Given the description of an element on the screen output the (x, y) to click on. 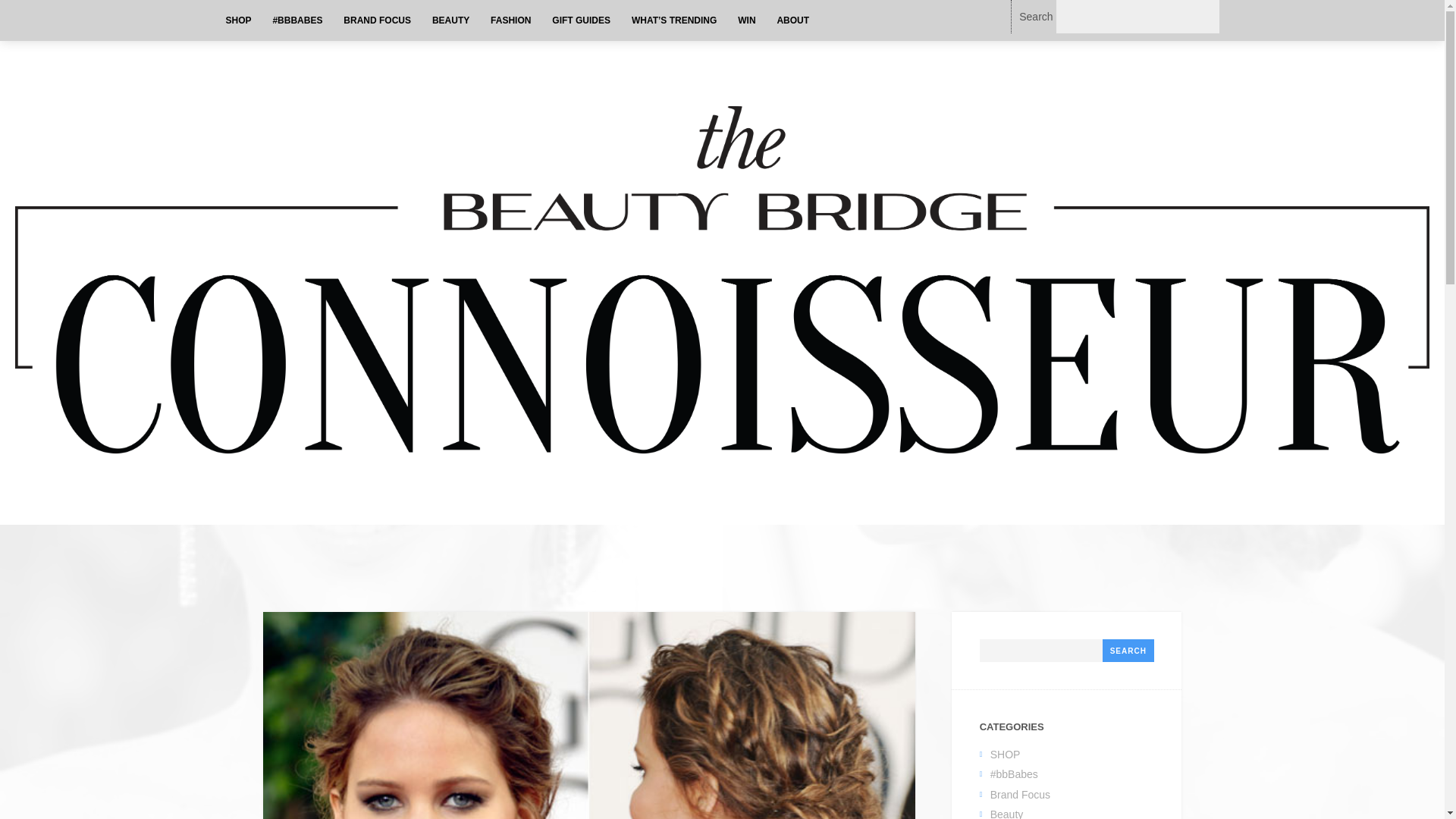
BRAND FOCUS (377, 20)
ABOUT (792, 20)
GIFT GUIDES (581, 20)
BEAUTY (451, 20)
FASHION (510, 20)
SKIP TO CONTENT (275, 20)
Search (1128, 650)
